Given the description of an element on the screen output the (x, y) to click on. 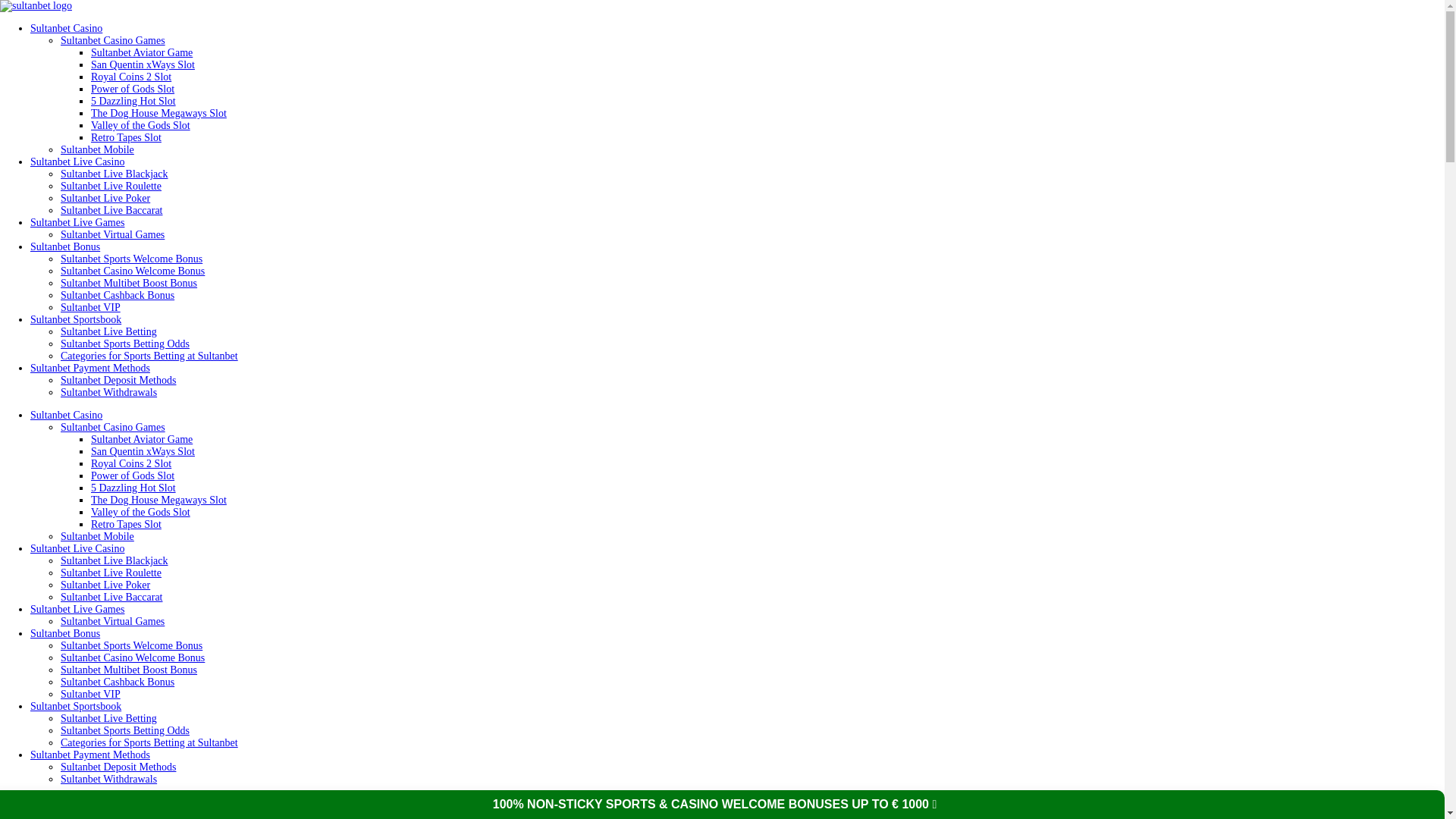
Sultanbet Mobile (97, 149)
Sultanbet Aviator Game (141, 439)
The Dog House Megaways Slot (158, 112)
Sultanbet Bonus (65, 246)
Sultanbet Casino (65, 414)
Sultanbet Casino Games (113, 427)
Sultanbet Casino Games (113, 40)
Royal Coins 2 Slot (130, 76)
Sultanbet Live Games (76, 222)
Sultanbet Live Casino (76, 161)
Sultanbet Live Poker (105, 197)
San Quentin xWays Slot (142, 451)
Sultanbet Sports Welcome Bonus (131, 258)
Sultanbet Payment Methods (89, 367)
Home (13, 815)
